Given the description of an element on the screen output the (x, y) to click on. 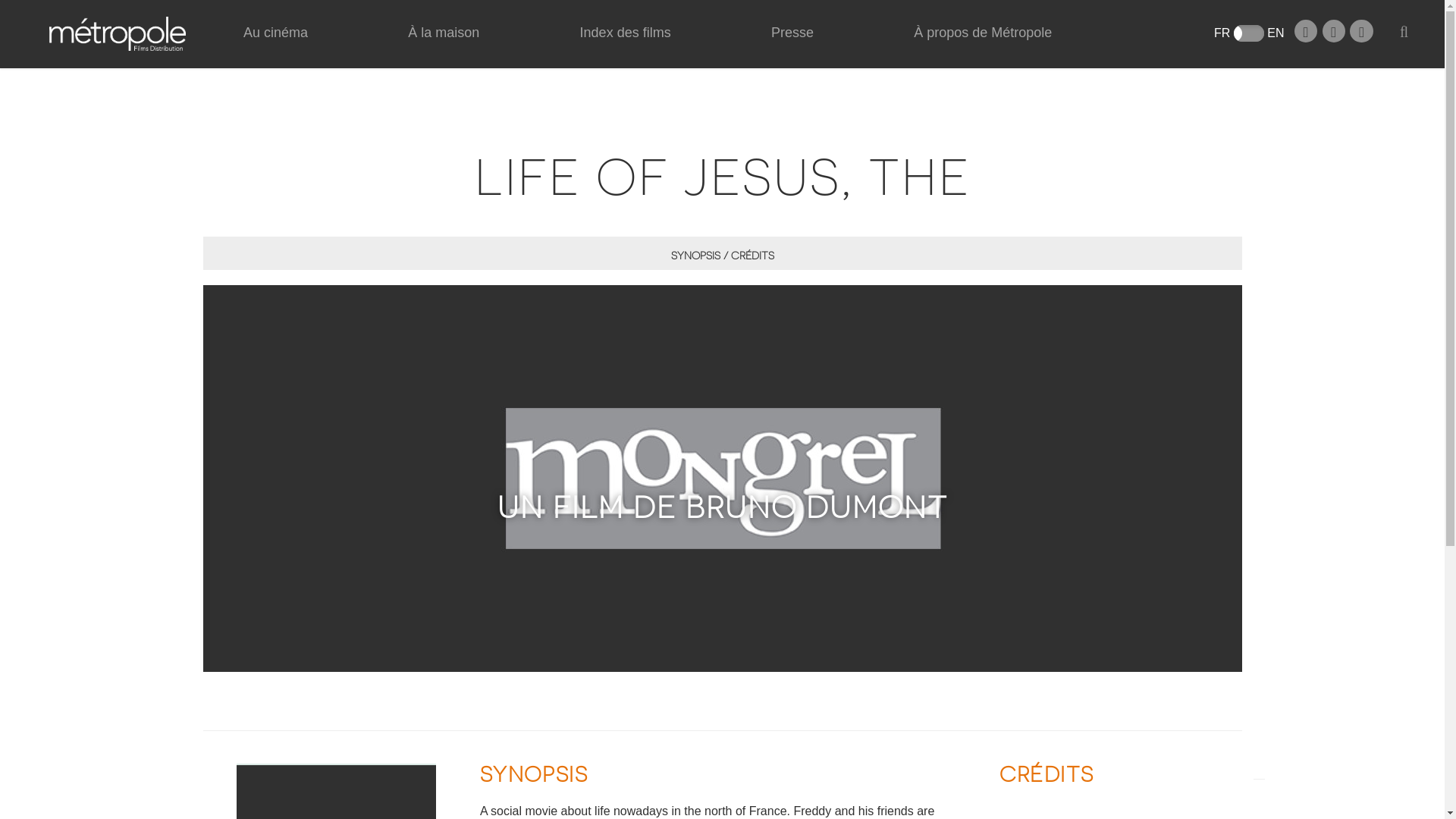
Presse (792, 48)
Index des films (625, 48)
Life of Jesus, The (335, 791)
